Given the description of an element on the screen output the (x, y) to click on. 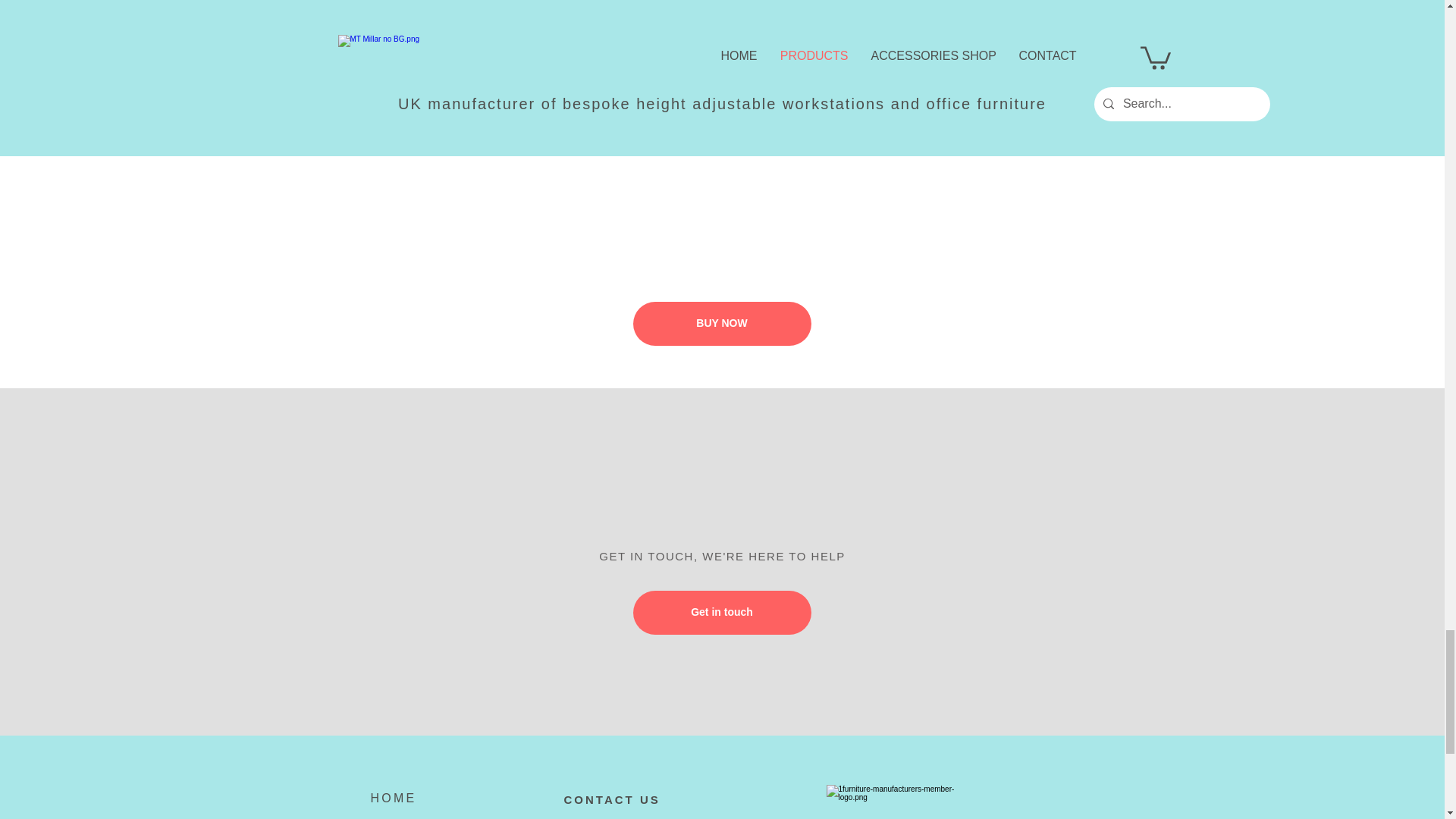
HOME (392, 797)
Get in touch (720, 612)
BUY NOW (720, 323)
